Given the description of an element on the screen output the (x, y) to click on. 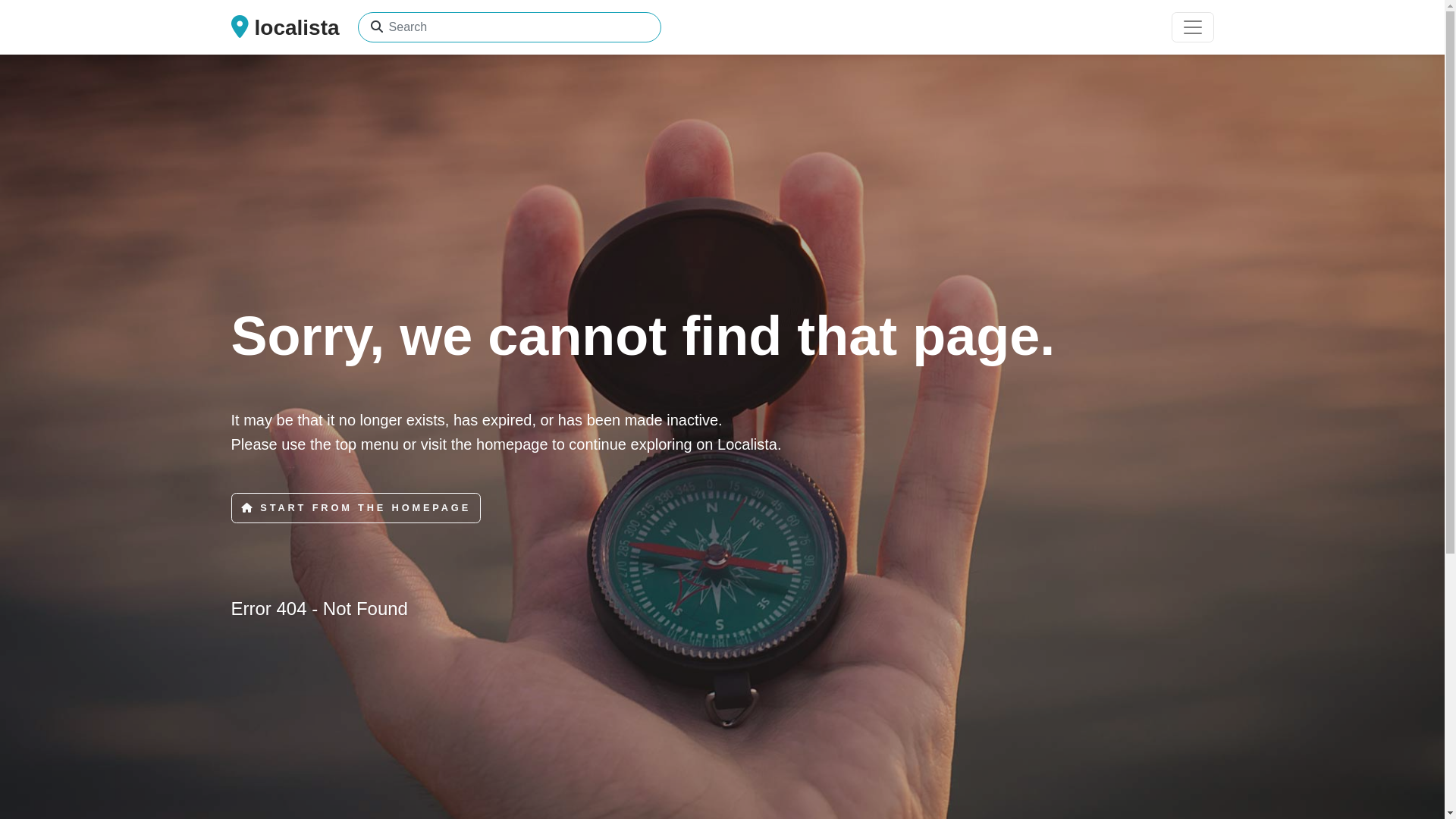
localista Element type: text (284, 27)
START FROM THE HOMEPAGE Element type: text (355, 507)
What are you searching for? Element type: text (376, 27)
